Given the description of an element on the screen output the (x, y) to click on. 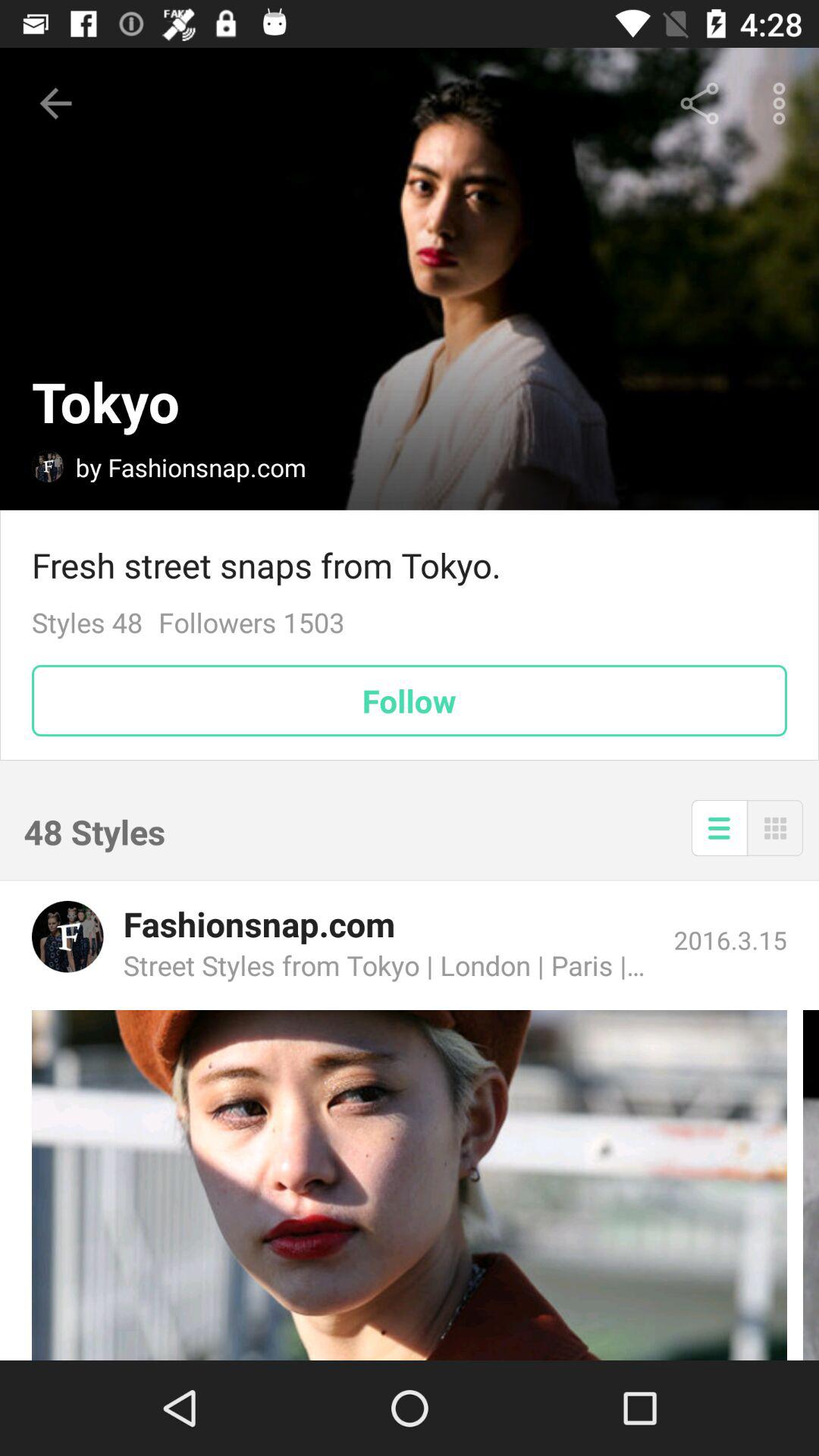
tap the icon above the tokyo (55, 103)
